Given the description of an element on the screen output the (x, y) to click on. 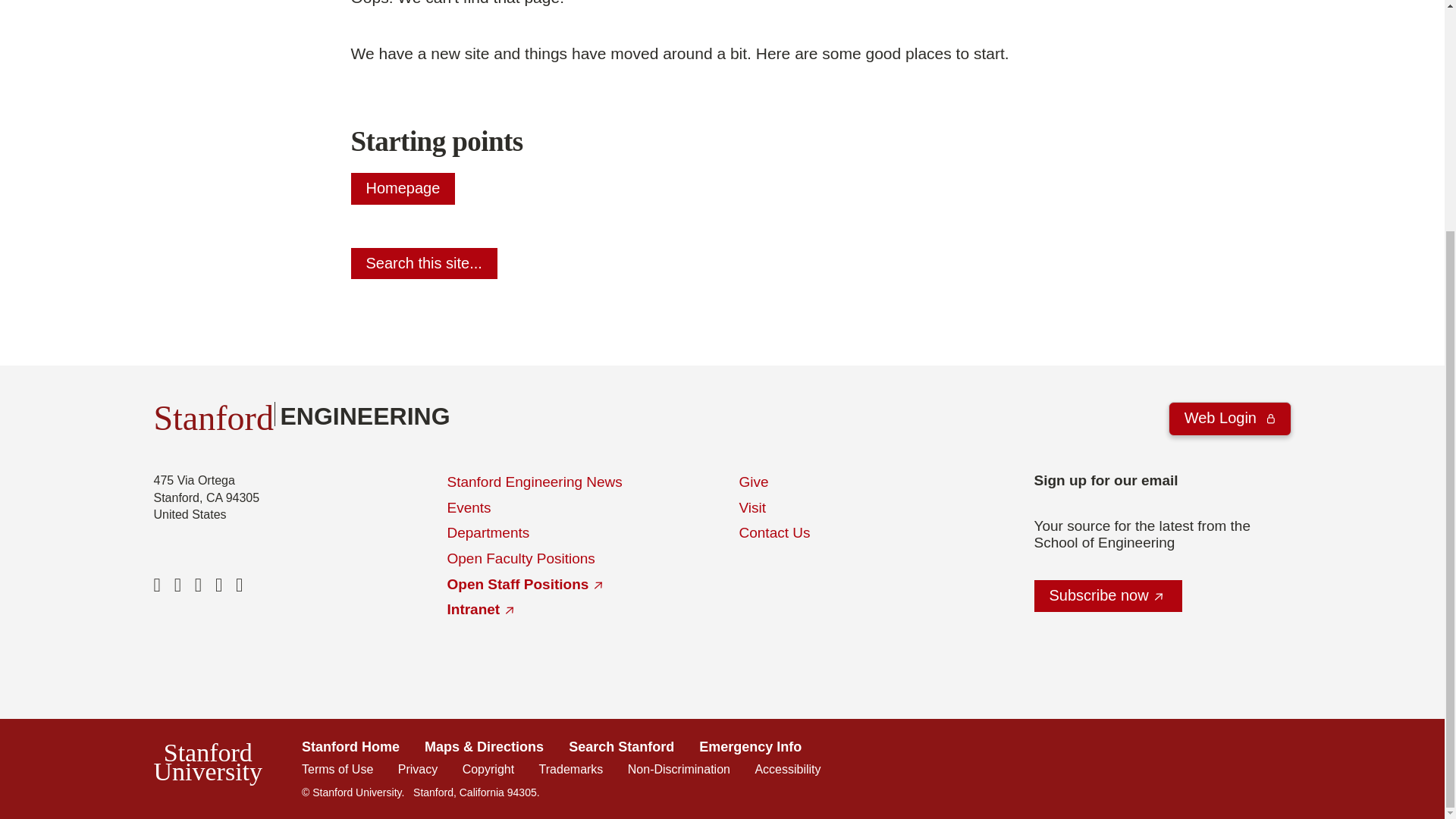
Ownership and use of Stanford trademarks and images (571, 768)
Report alleged copyright infringement (488, 768)
Privacy and cookie policy (417, 768)
Non-discrimination policy (678, 768)
Report web accessibility issues (787, 768)
Terms of use for sites (336, 768)
